Given the description of an element on the screen output the (x, y) to click on. 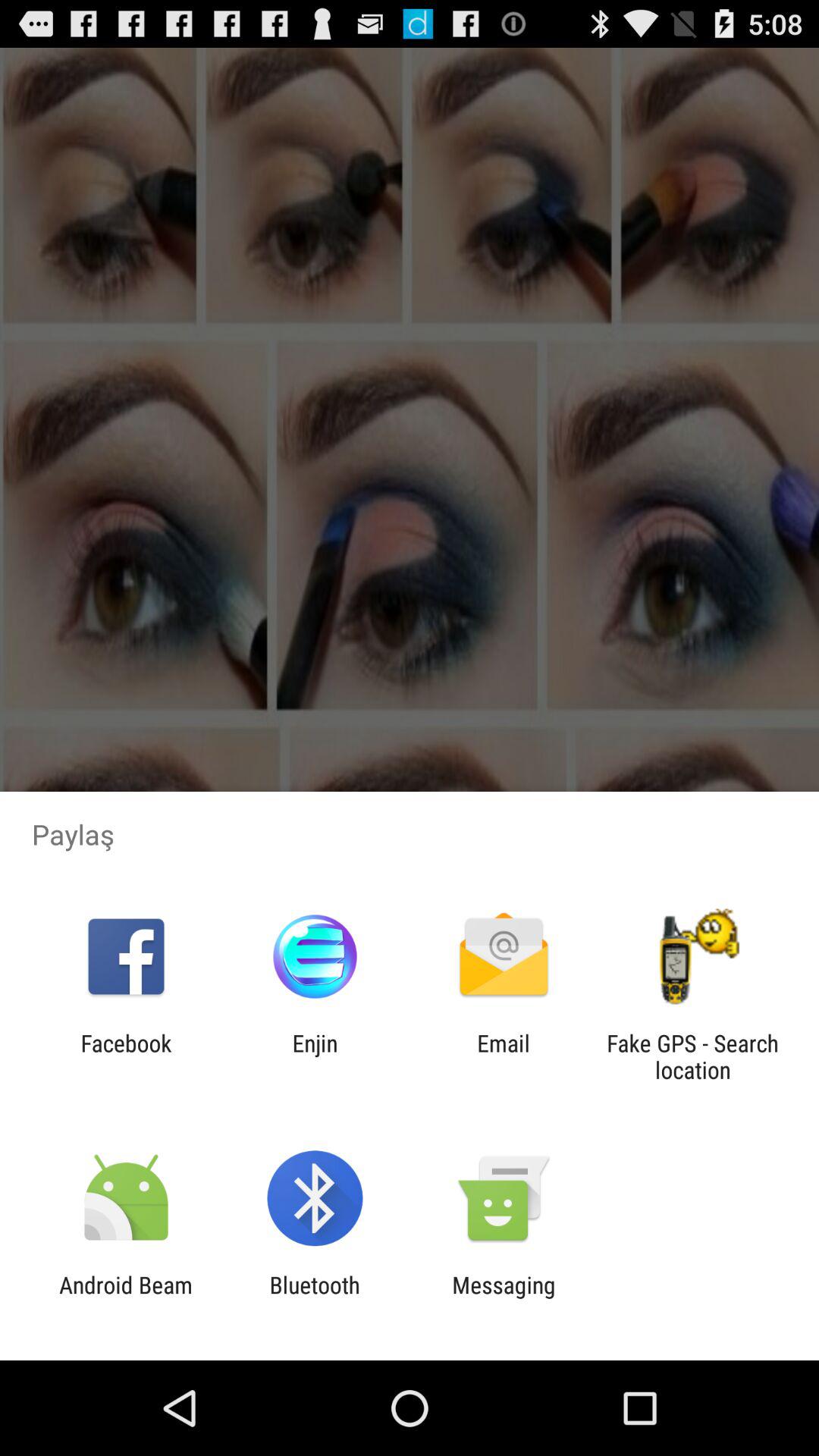
tap the messaging app (503, 1298)
